Given the description of an element on the screen output the (x, y) to click on. 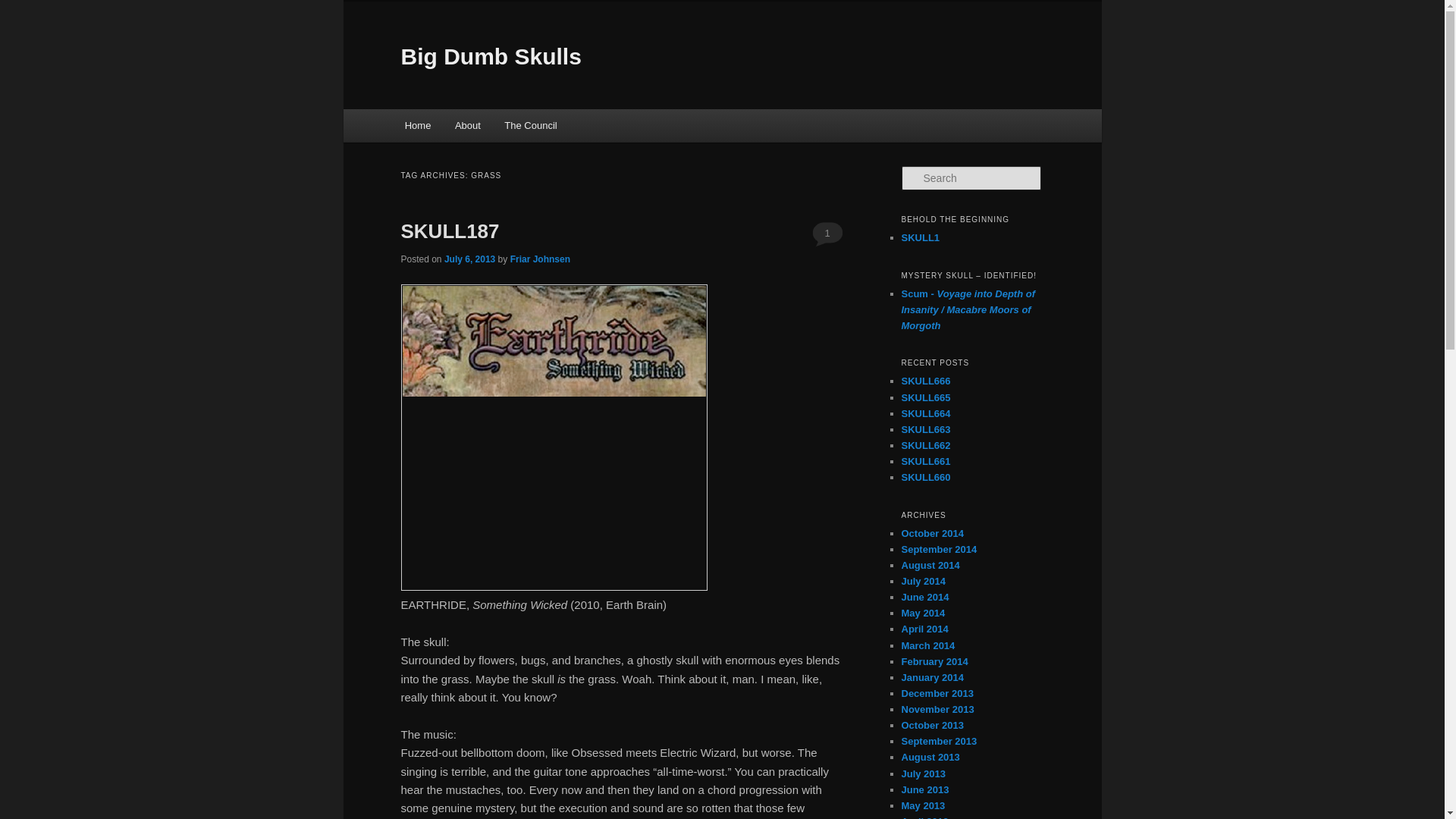
July 6, 2013 (469, 258)
8:00 am (469, 258)
SKULL663 (925, 429)
April 2014 (924, 628)
June 2014 (925, 596)
Friar Johnsen (540, 258)
SKULL664 (925, 413)
SKULL187 (449, 231)
May 2014 (922, 613)
The Council (531, 124)
